Given the description of an element on the screen output the (x, y) to click on. 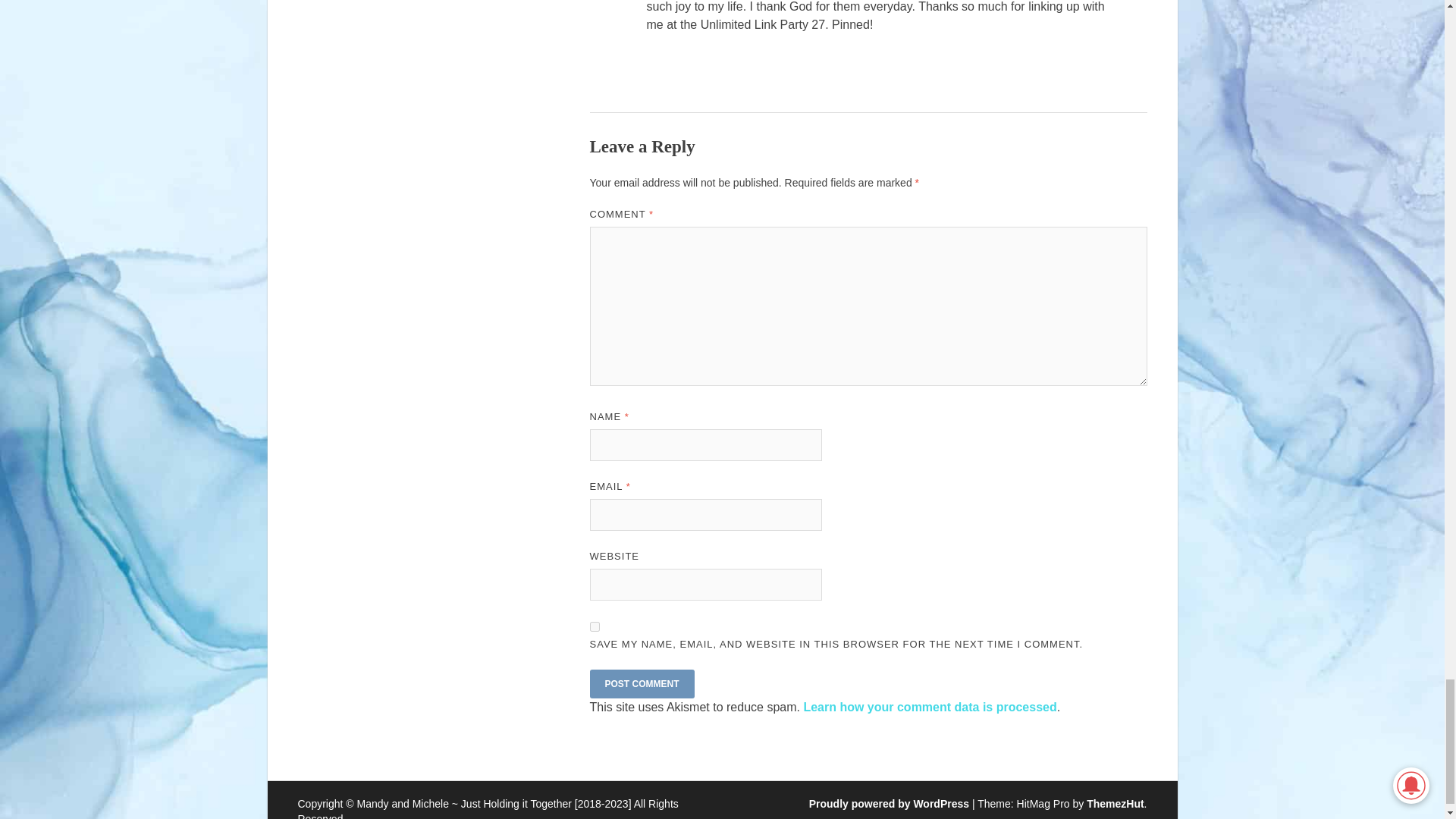
yes (594, 626)
Post Comment (641, 683)
